Given the description of an element on the screen output the (x, y) to click on. 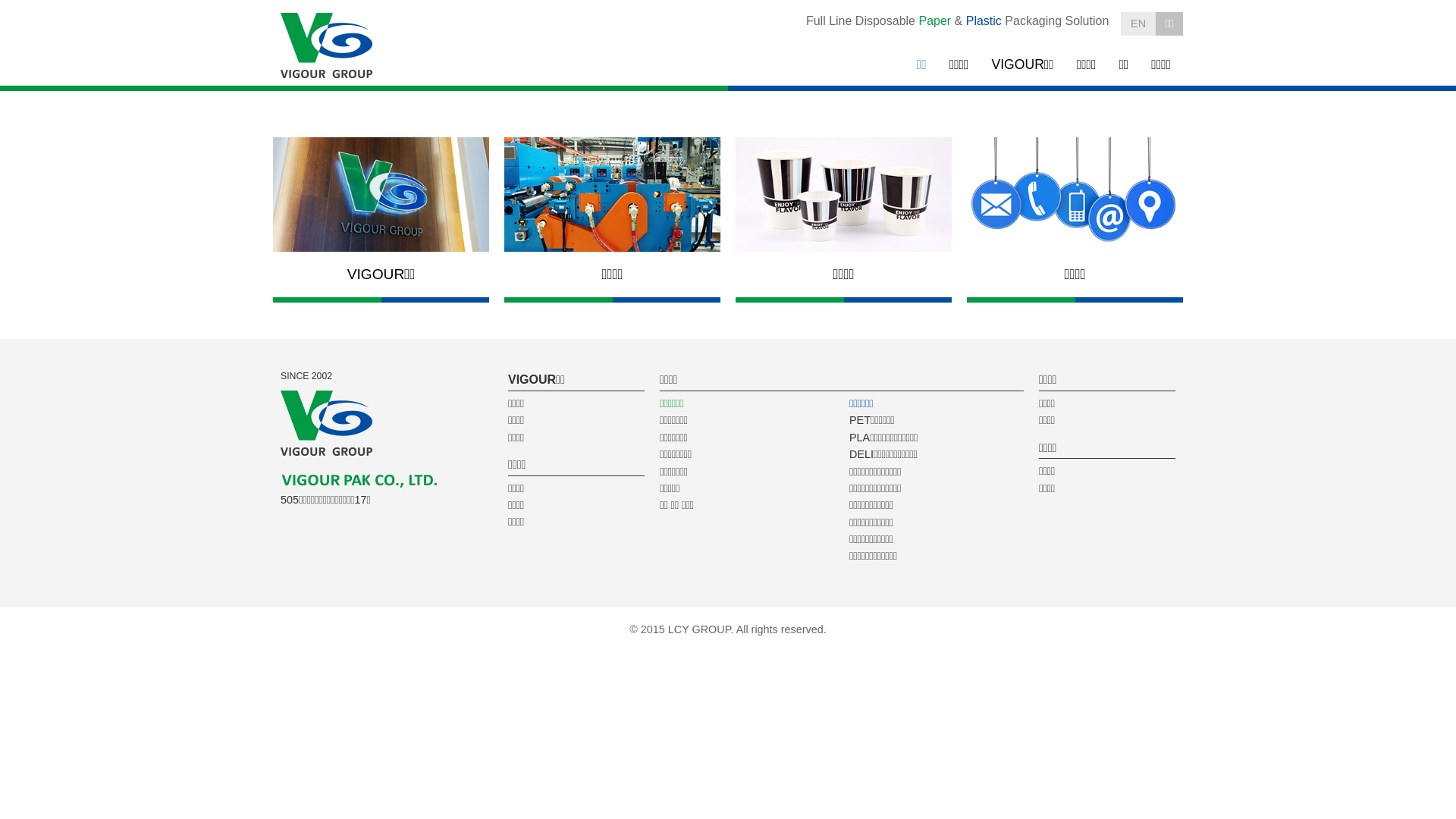
EN Element type: text (1137, 23)
